Given the description of an element on the screen output the (x, y) to click on. 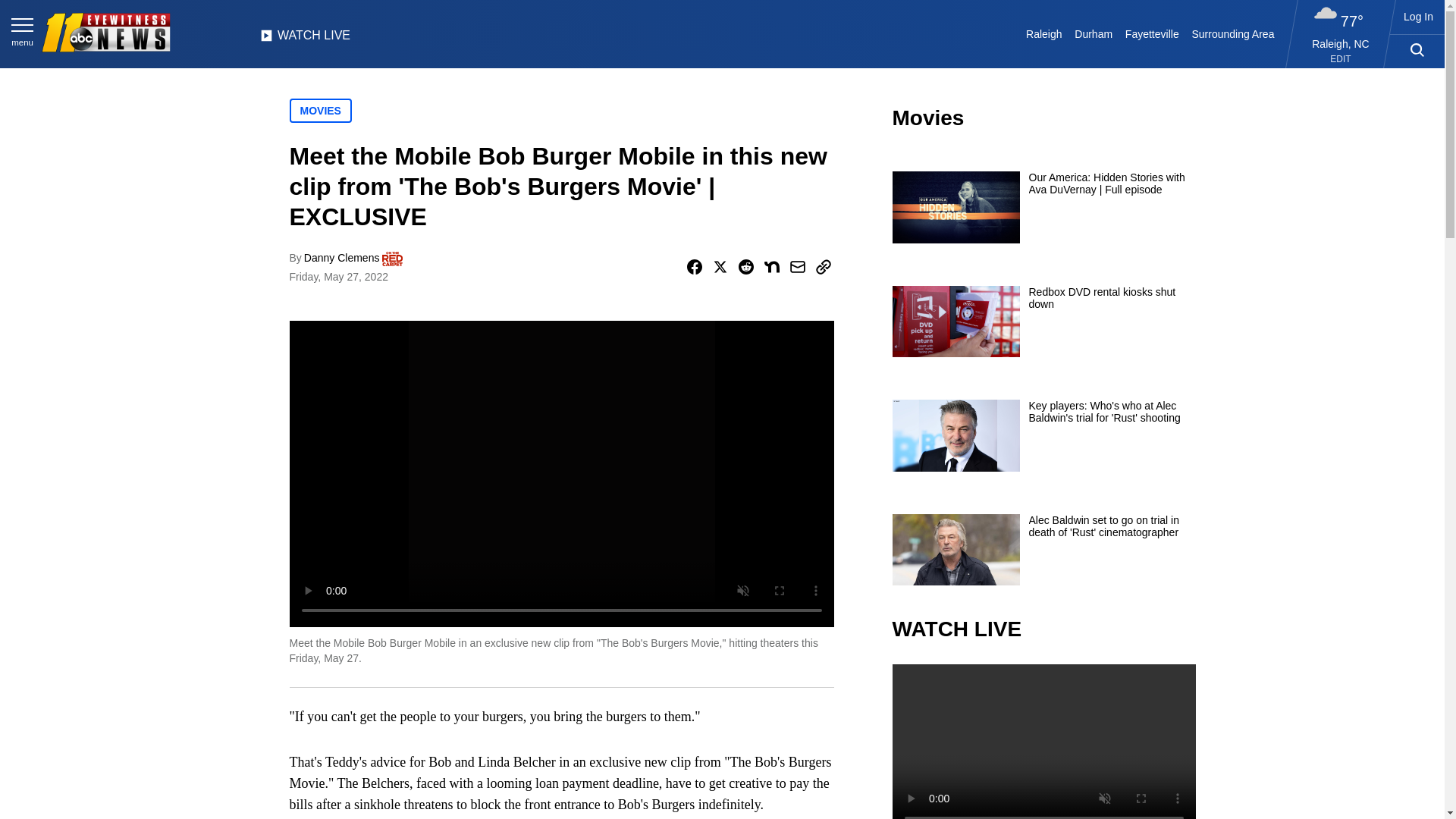
Raleigh, NC (1340, 43)
EDIT (1340, 59)
Durham (1093, 33)
WATCH LIVE (305, 39)
Fayetteville (1151, 33)
Raleigh (1044, 33)
Surrounding Area (1233, 33)
